Given the description of an element on the screen output the (x, y) to click on. 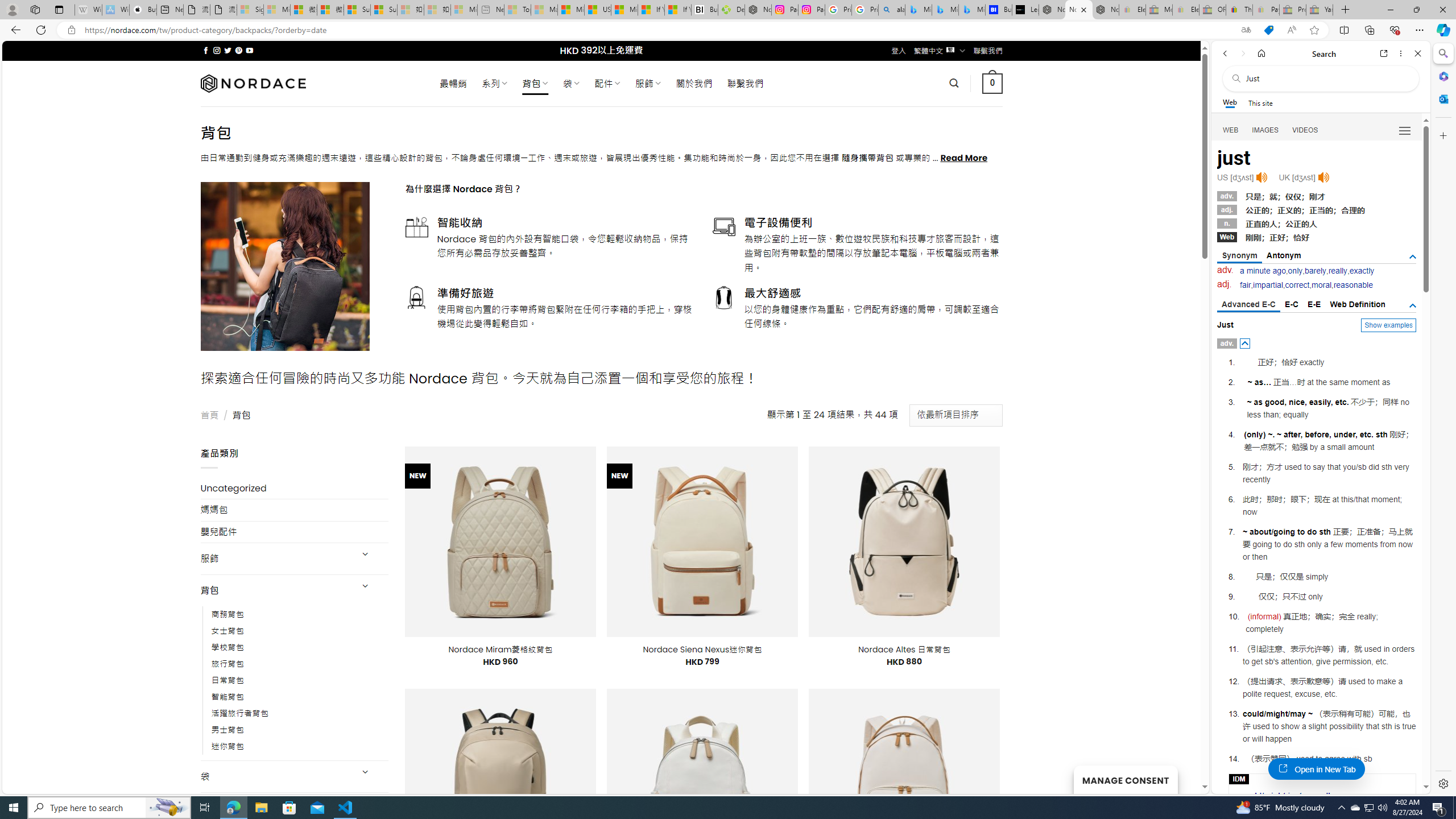
WEB (1231, 130)
